Given the description of an element on the screen output the (x, y) to click on. 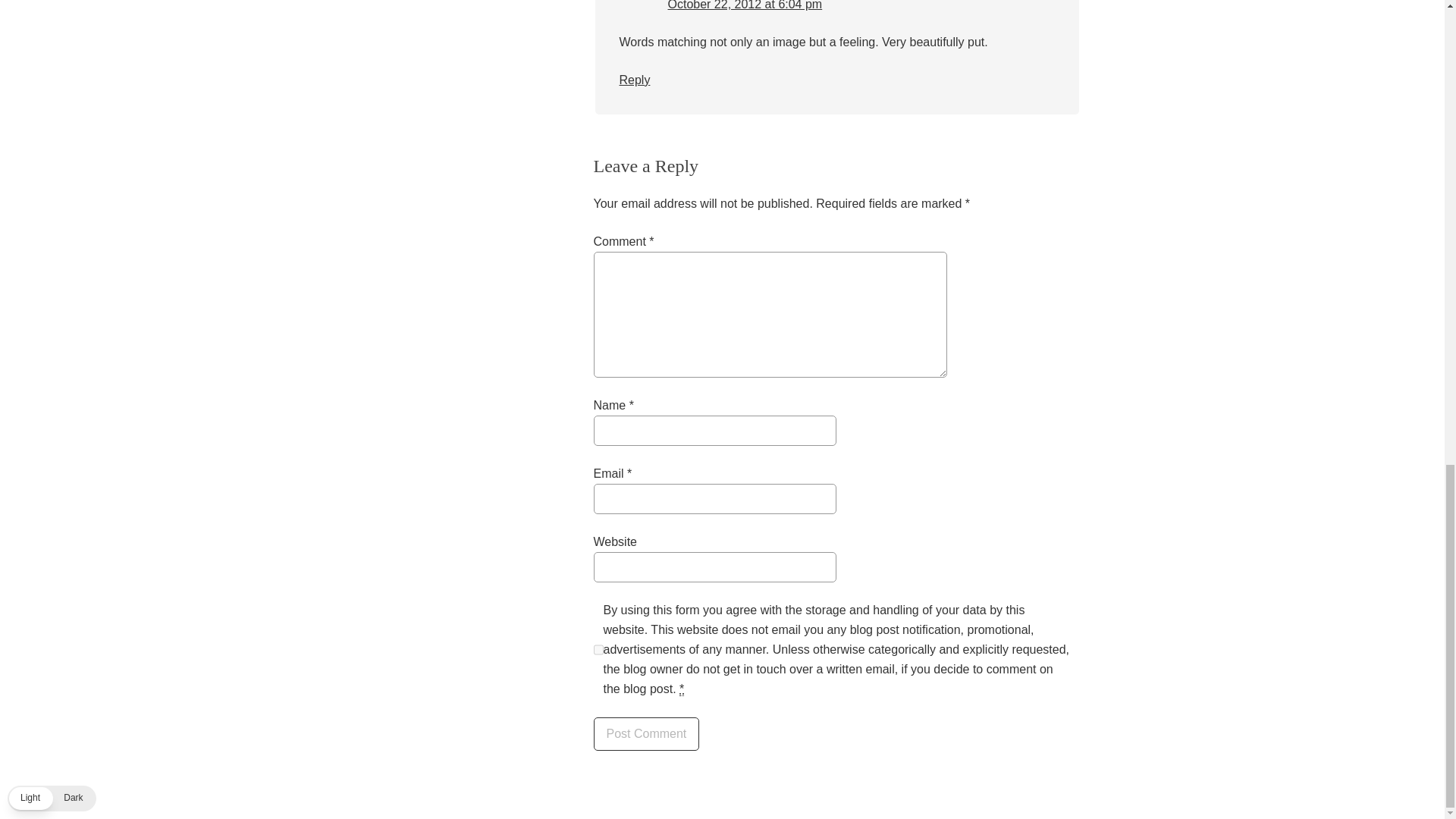
Reply (633, 79)
Monday, October 22, 2012, 6:04 pm (744, 5)
October 22, 2012 at 6:04 pm (744, 5)
Post Comment (645, 734)
Post Comment (645, 734)
